Given the description of an element on the screen output the (x, y) to click on. 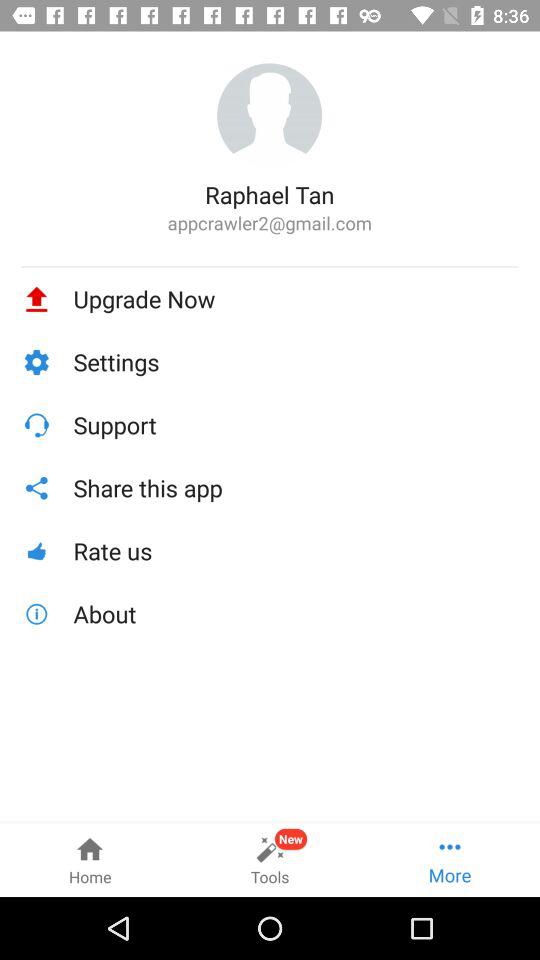
jump to the raphael tan icon (269, 194)
